Given the description of an element on the screen output the (x, y) to click on. 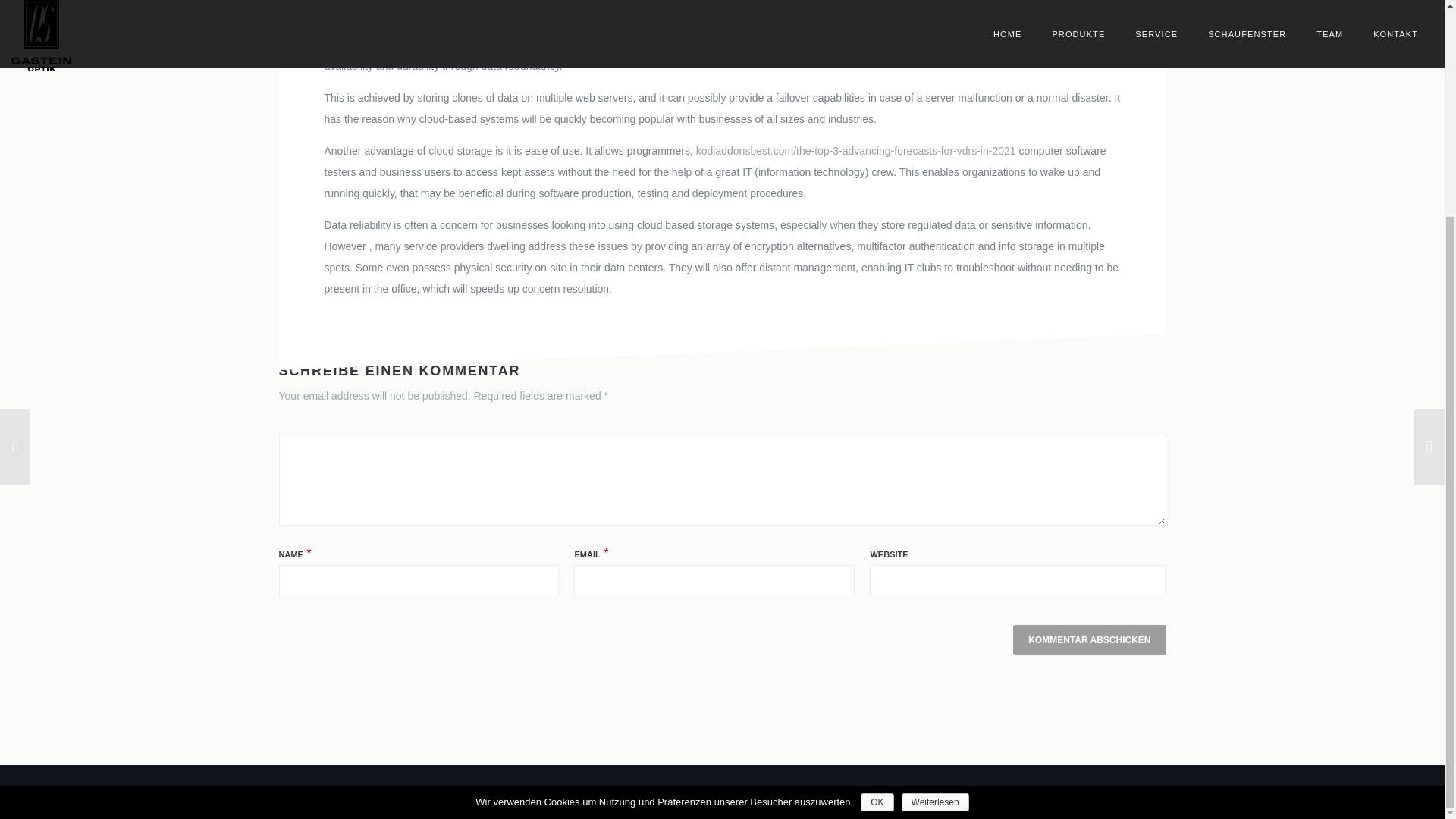
Weiterlesen (935, 517)
AGB (895, 791)
OK (876, 517)
Impressum (998, 791)
Kommentar abschicken (1089, 639)
GLORY HOLE TEXAS TRY ONLINE GLORY HOLE SITES! (163, 162)
Facebook (1137, 791)
Kommentar abschicken (1089, 639)
Sitemap (938, 791)
Datenschutz (1069, 791)
